Given the description of an element on the screen output the (x, y) to click on. 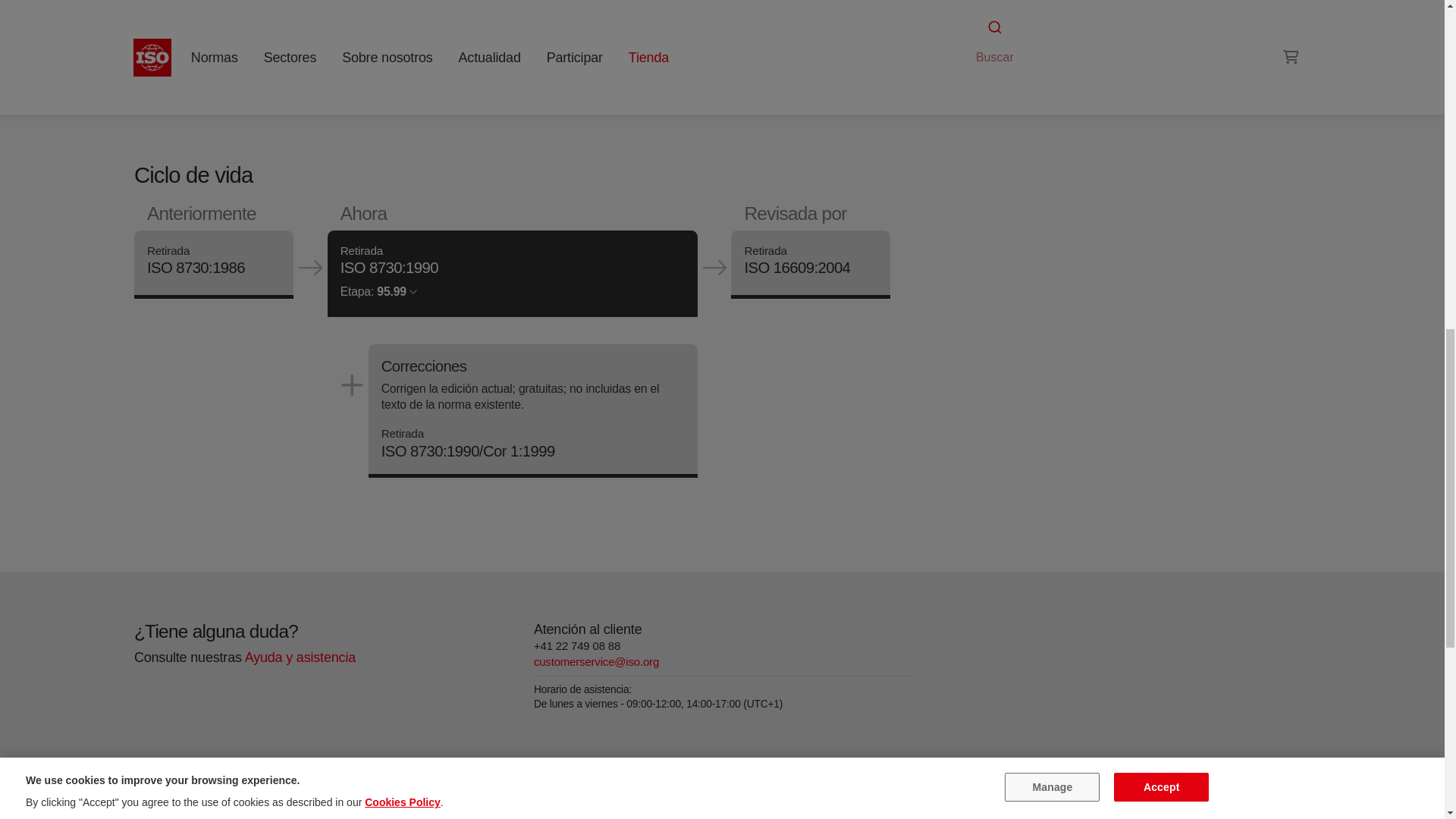
35.240.40 (997, 8)
IT applications in banking (997, 8)
ISO 8730:1986 (195, 268)
RSS (956, 38)
Etapa: 95.99 (377, 291)
